Given the description of an element on the screen output the (x, y) to click on. 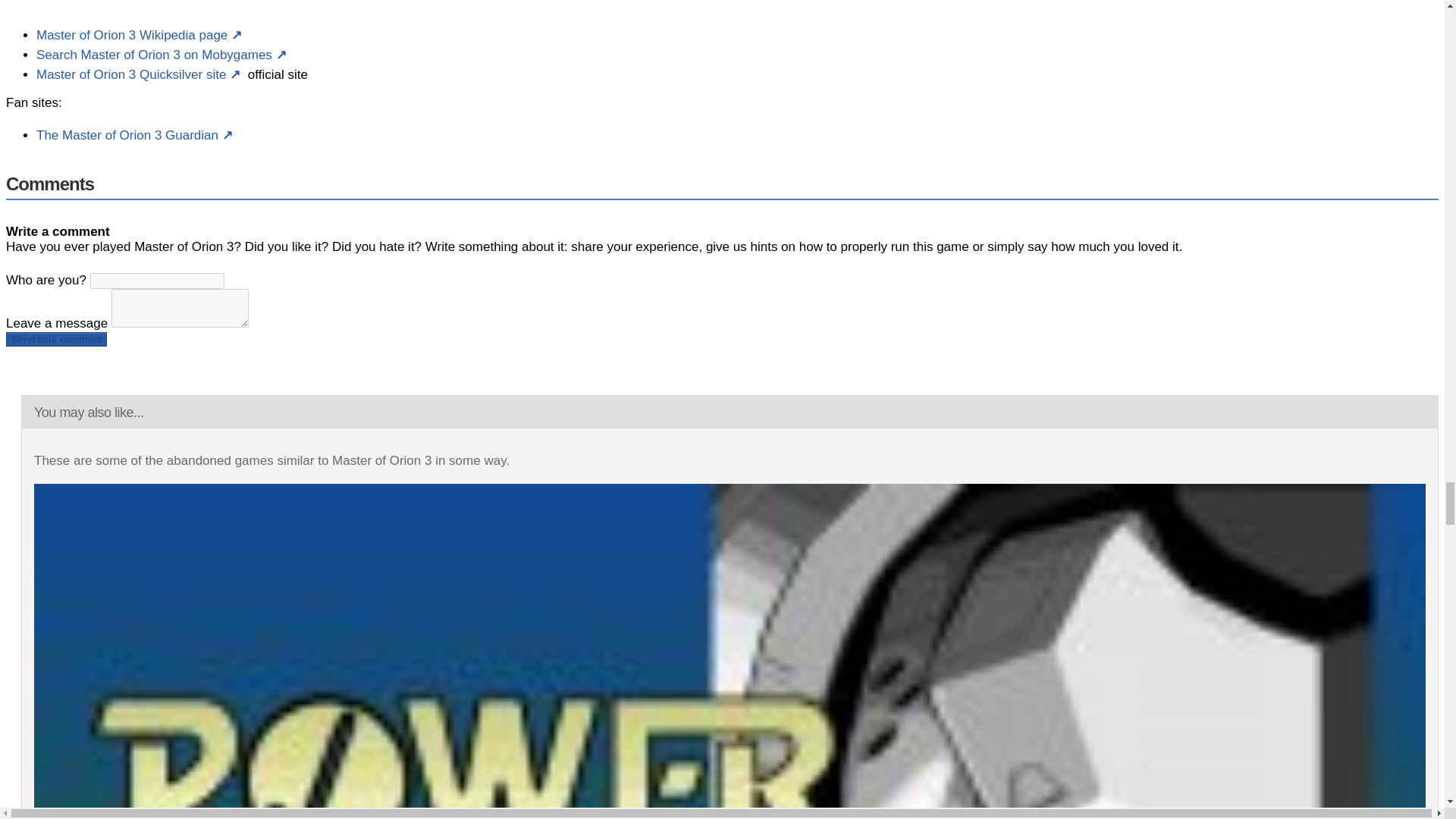
Master of Orion 3 official site (140, 74)
Master of Orion 3 fansite (135, 134)
Mobygames  (162, 54)
Wikipedia  (141, 34)
